Given the description of an element on the screen output the (x, y) to click on. 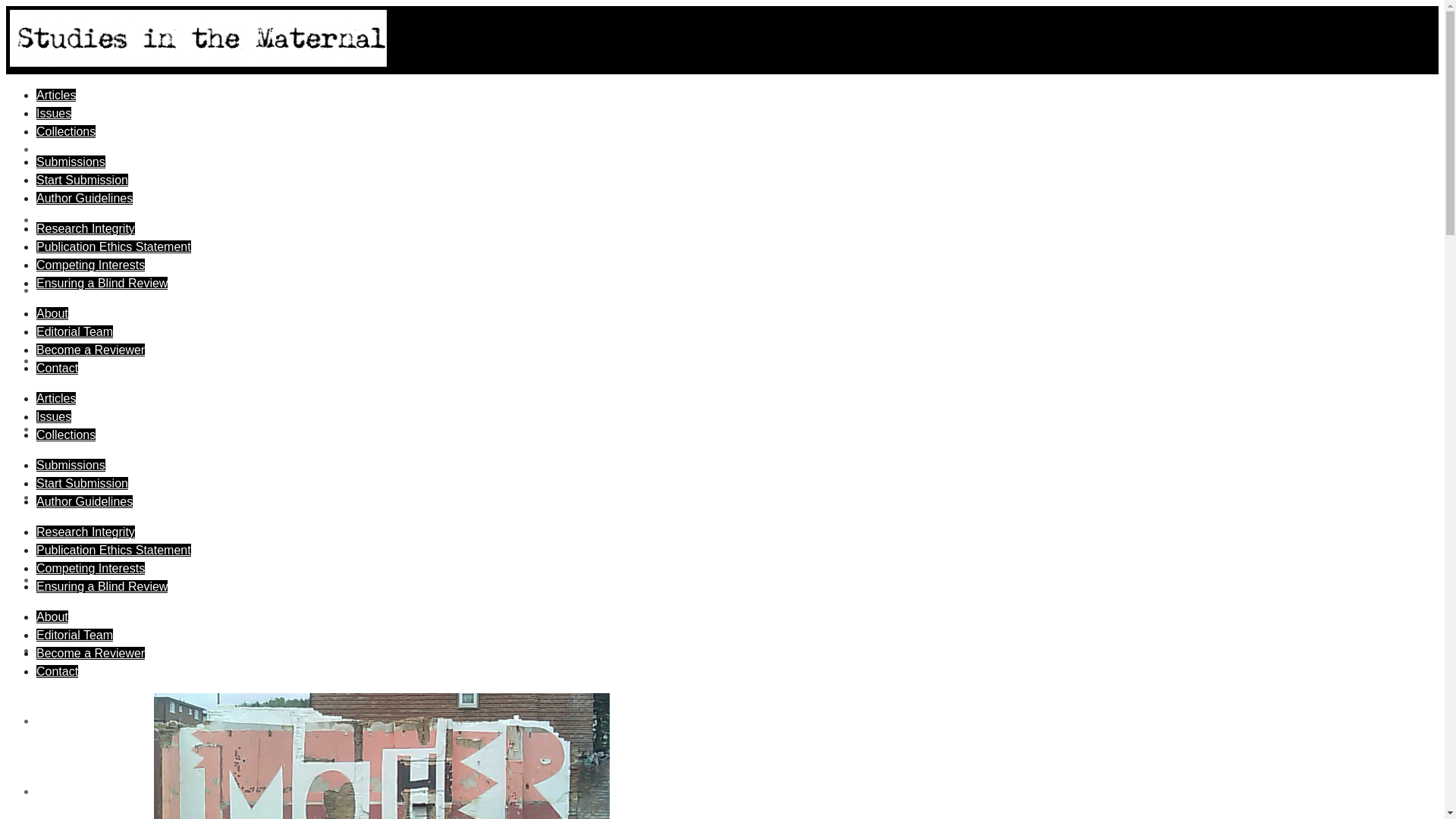
Author Guidelines (84, 197)
Editorial Team (74, 331)
Research Integrity (85, 228)
About (52, 616)
Start Submission (82, 179)
Competing Interests (90, 567)
Articles (55, 94)
Research Integrity (85, 531)
Editorial Team (74, 634)
Collections (66, 131)
Publication Ethics Statement (113, 549)
Collections (66, 434)
Login (52, 428)
Start Submission (82, 482)
Issues (53, 113)
